Given the description of an element on the screen output the (x, y) to click on. 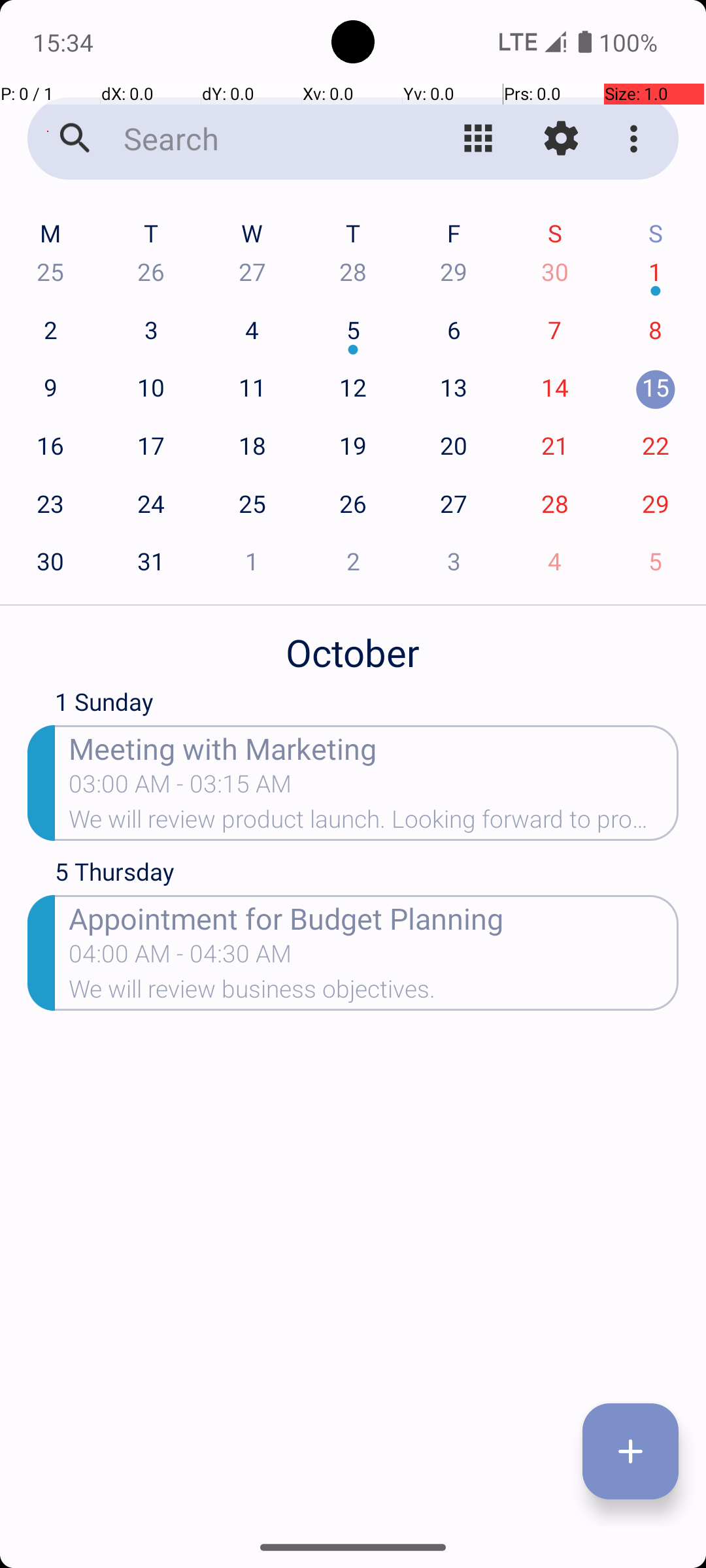
1 Sunday Element type: android.widget.TextView (366, 704)
5 Thursday Element type: android.widget.TextView (366, 874)
03:00 AM - 03:15 AM Element type: android.widget.TextView (179, 787)
We will review product launch. Looking forward to productive discussions. Element type: android.widget.TextView (373, 822)
04:00 AM - 04:30 AM Element type: android.widget.TextView (179, 957)
We will review business objectives. Element type: android.widget.TextView (373, 992)
